Given the description of an element on the screen output the (x, y) to click on. 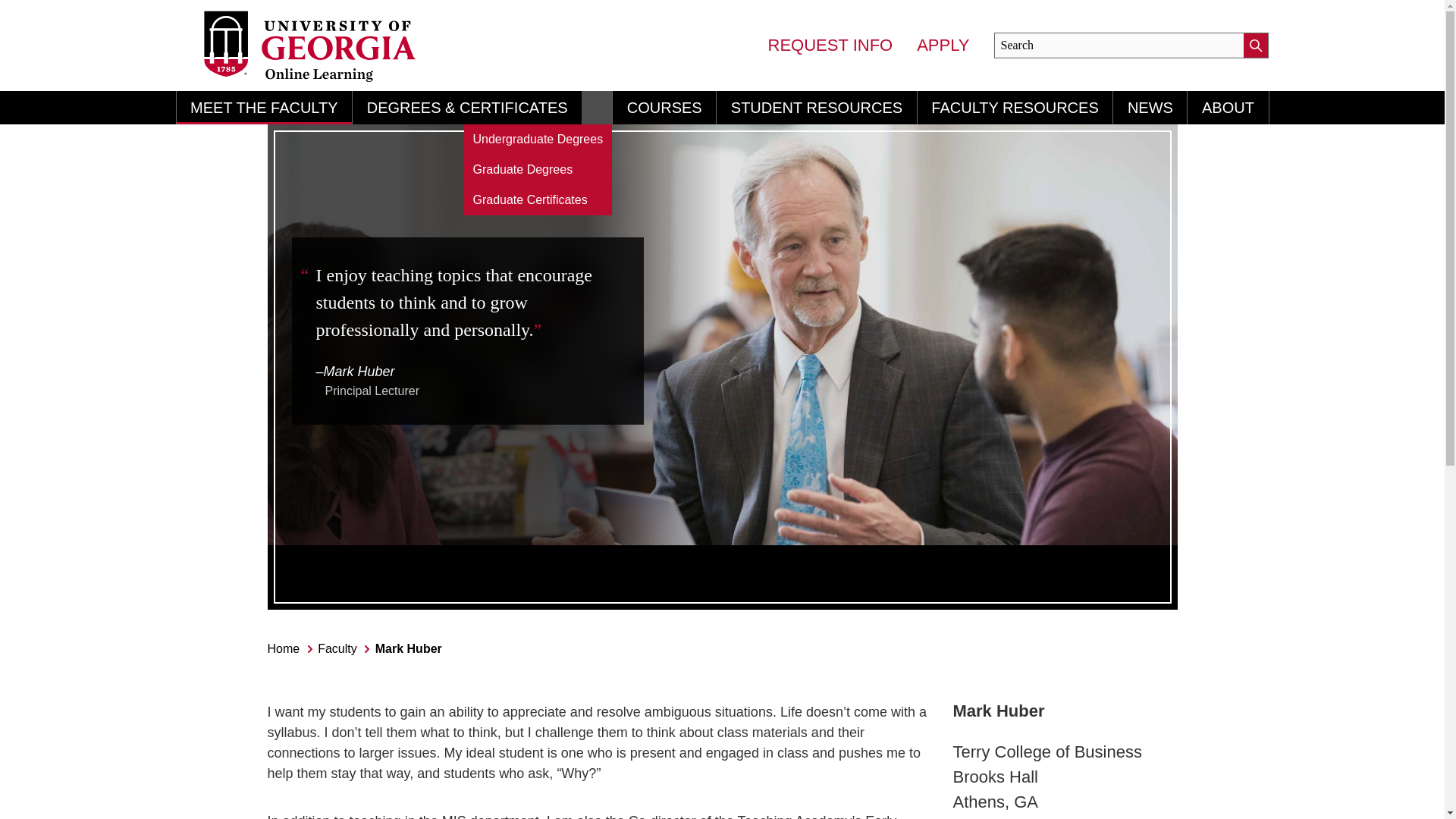
FACULTY RESOURCES (1015, 107)
ABOUT (1228, 107)
COURSES (664, 107)
Mark Huber (408, 648)
Submit Search (1255, 45)
Graduate Degrees (538, 169)
APPLY (943, 45)
NEWS (1149, 107)
Undergraduate Degrees (538, 139)
Faculty (336, 648)
